Given the description of an element on the screen output the (x, y) to click on. 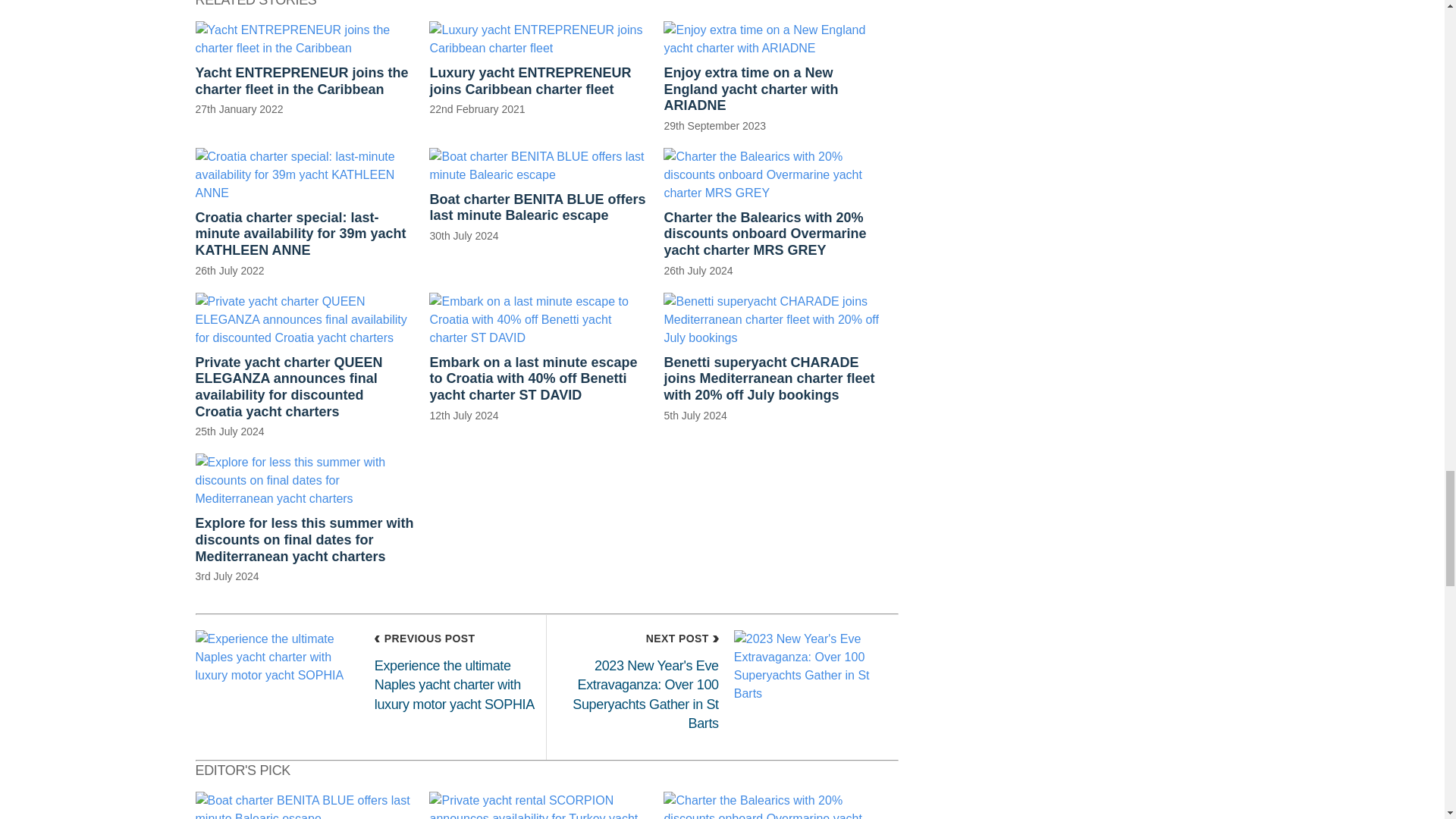
Enjoy extra time on a New England yacht charter with ARIADNE (772, 76)
Luxury yacht ENTREPRENEUR joins Caribbean charter fleet (538, 68)
Yacht ENTREPRENEUR joins the charter fleet in the Caribbean (304, 68)
Boat charter BENITA BLUE offers last minute Balearic escape (538, 195)
